Given the description of an element on the screen output the (x, y) to click on. 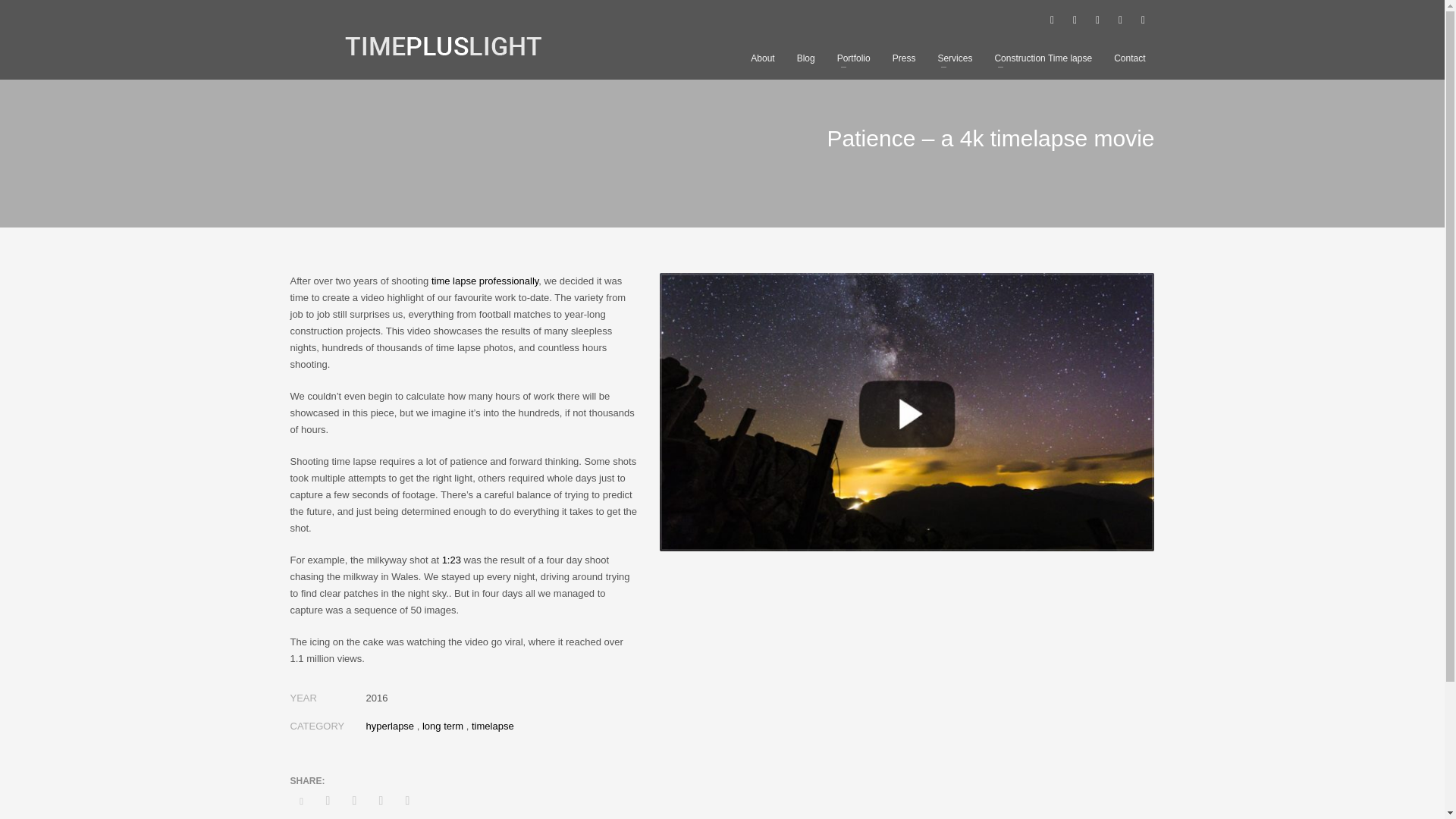
Services (954, 57)
Blog (805, 57)
About (762, 57)
SHARE ON TWITTER (301, 801)
Instagram (1097, 20)
Vimeo (1119, 20)
timelapse (492, 726)
YouTube (1142, 20)
Facebook (1051, 20)
Portfolio (853, 57)
SHARE ON FACEBOOK (328, 800)
long term (442, 726)
SHARE ON MAIL (407, 800)
Press (903, 57)
Twitter (1074, 20)
